Given the description of an element on the screen output the (x, y) to click on. 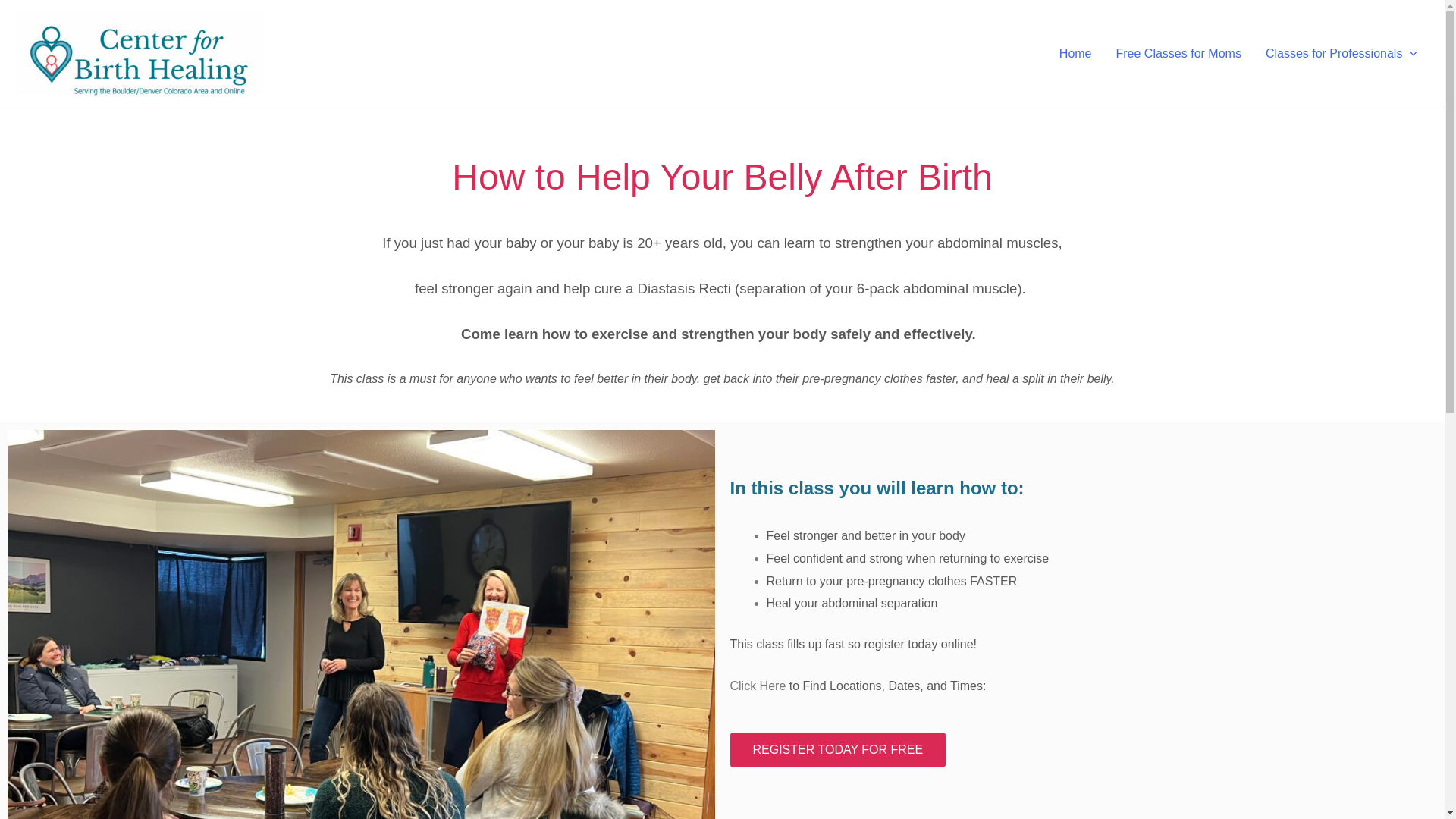
Classes for Professionals (1341, 53)
REGISTER TODAY FOR FREE (836, 749)
Home (1074, 53)
Free Classes for Moms (1178, 53)
